Given the description of an element on the screen output the (x, y) to click on. 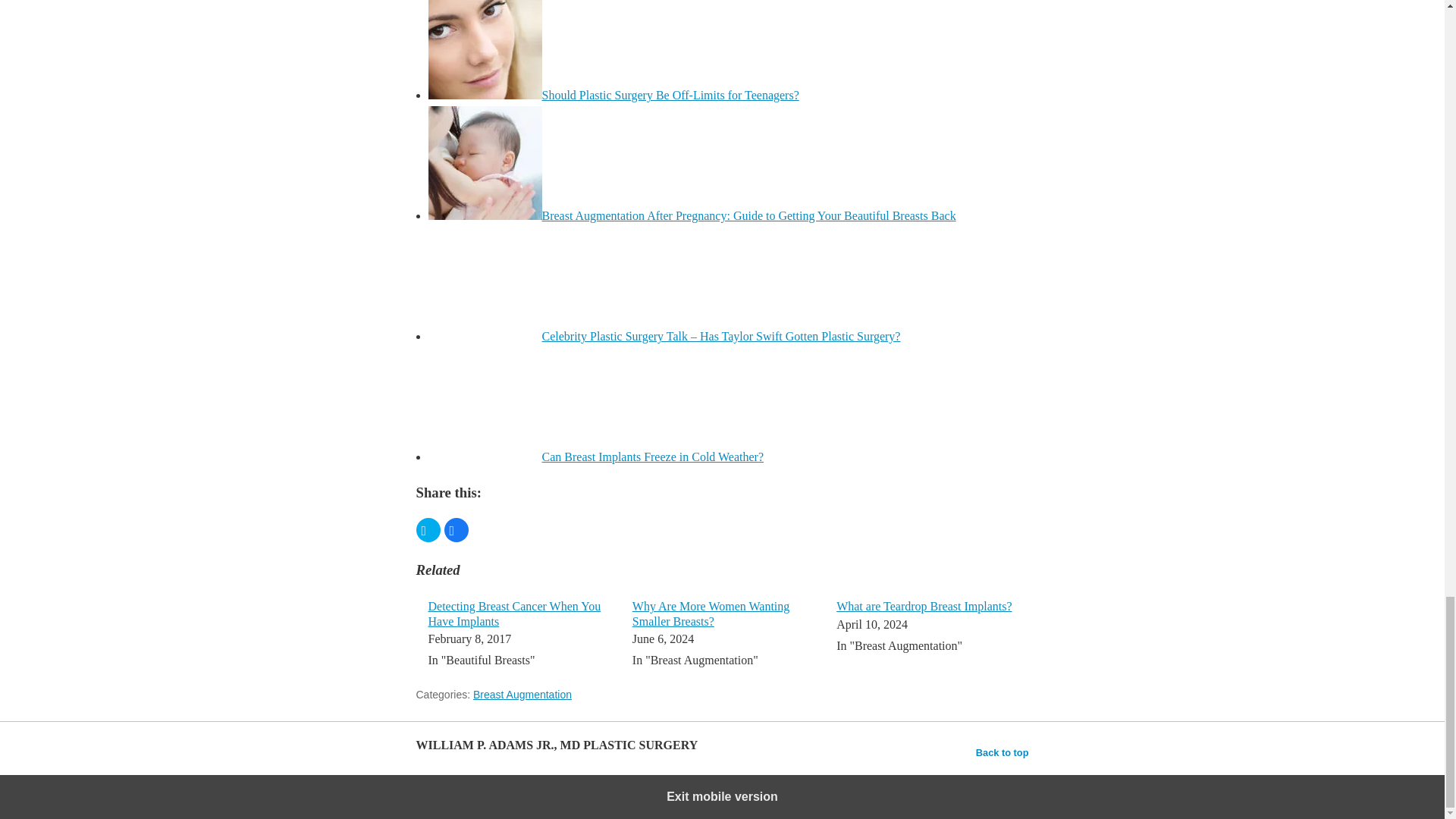
Back to top (1002, 752)
Can Breast Implants Freeze in Cold Weather? (651, 456)
Should Plastic Surgery Be Off-Limits for Teenagers? (669, 94)
Click to share on Facebook (456, 529)
What are Teardrop Breast Implants? (923, 605)
Click to share on Twitter (426, 529)
Breast Augmentation (522, 694)
Detecting Breast Cancer When You Have Implants (513, 613)
Why Are More Women Wanting Smaller Breasts? (710, 613)
